Given the description of an element on the screen output the (x, y) to click on. 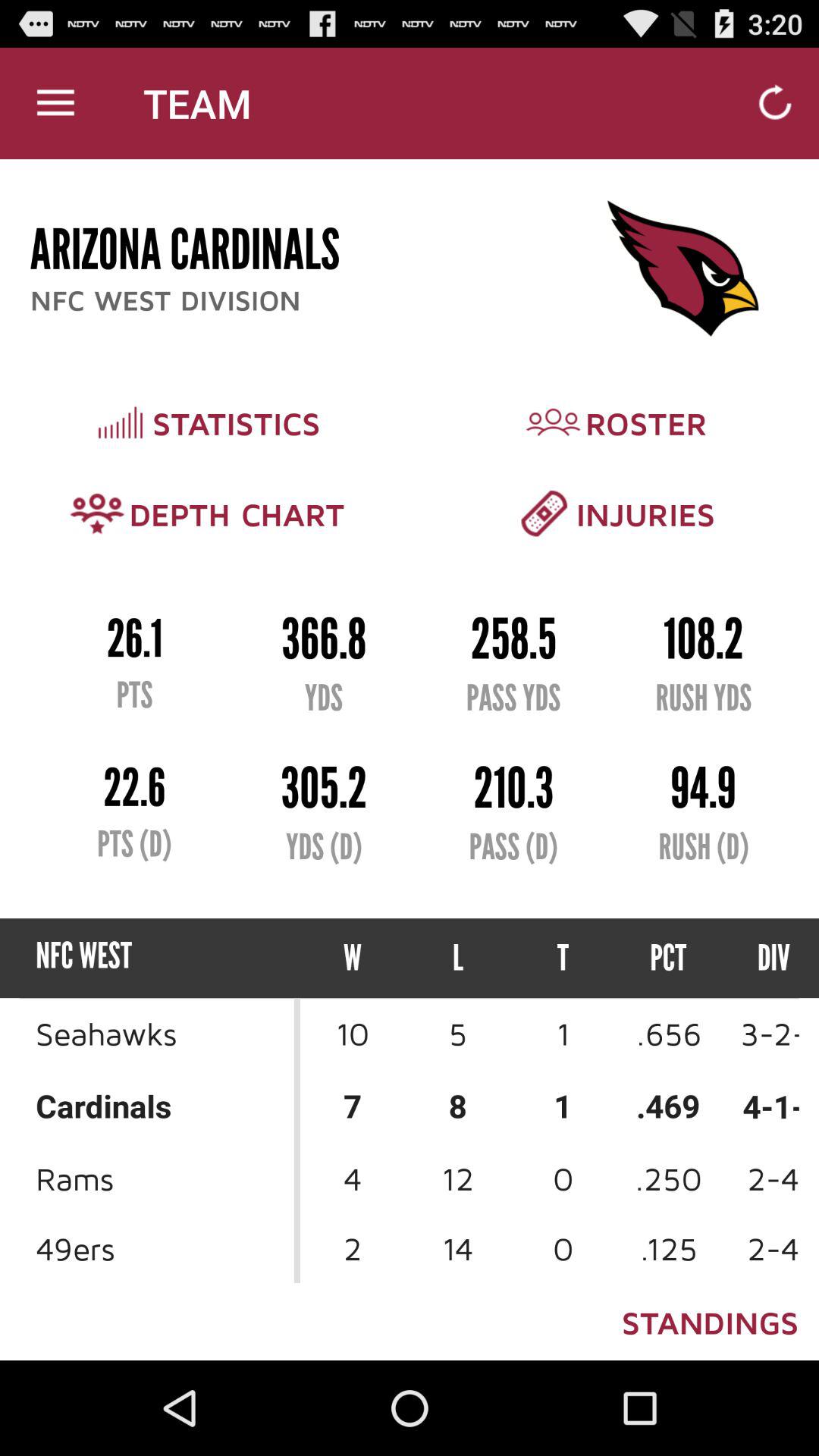
launch icon to the right of w icon (457, 958)
